Given the description of an element on the screen output the (x, y) to click on. 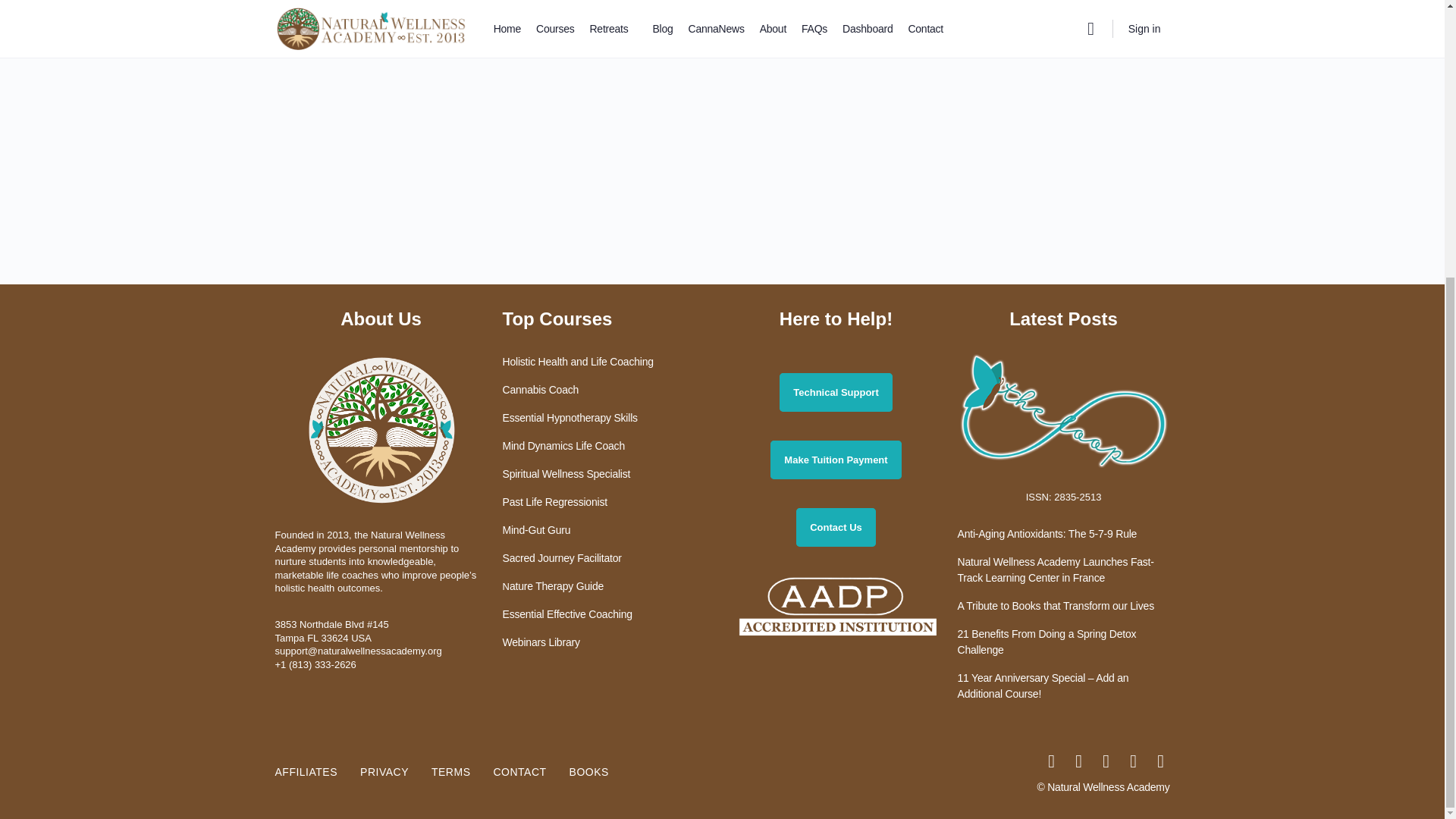
Logo (380, 429)
